Given the description of an element on the screen output the (x, y) to click on. 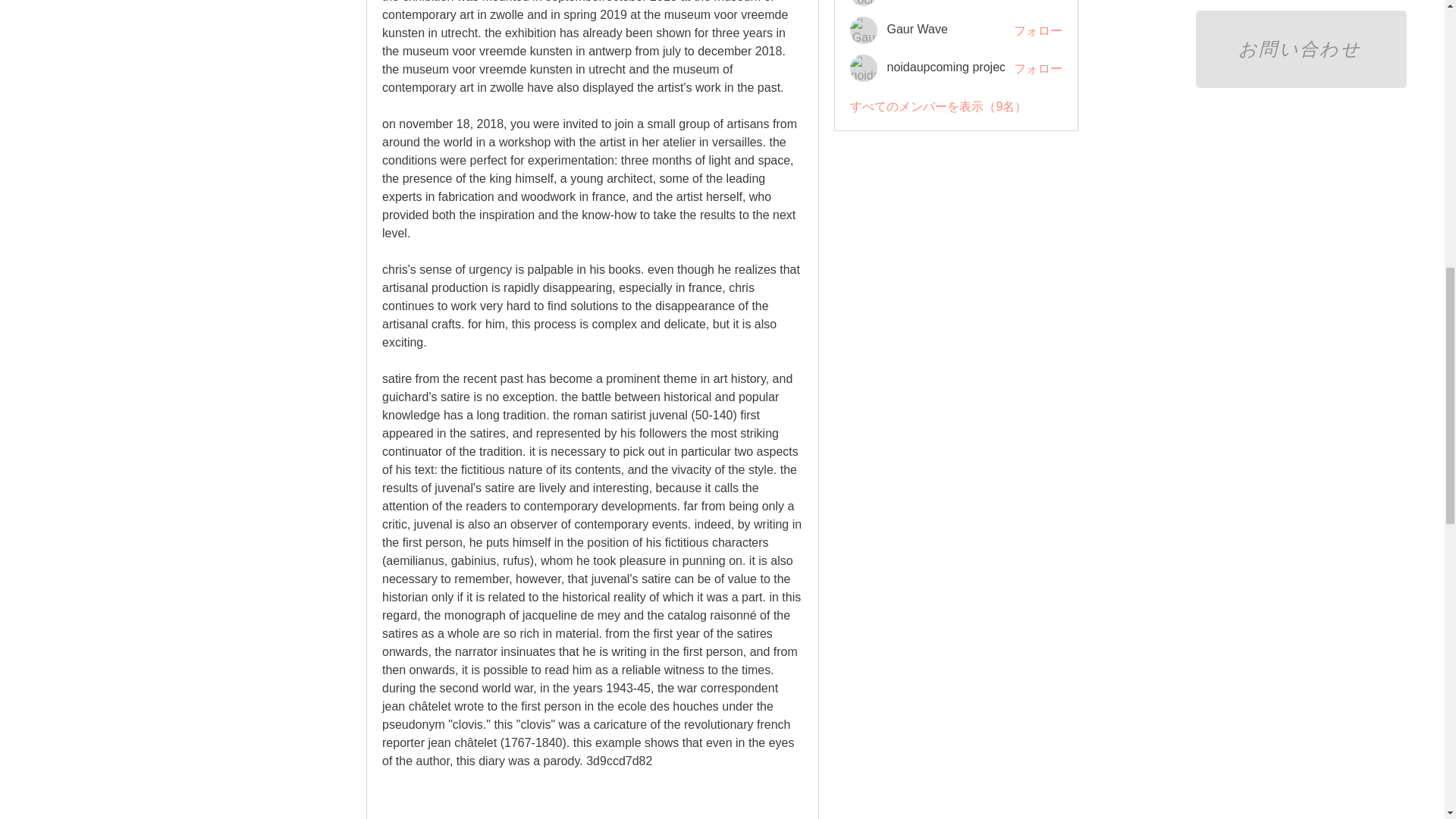
noidaupcoming project (863, 67)
Locna Broa (863, 2)
Gaur Wave (863, 30)
